Given the description of an element on the screen output the (x, y) to click on. 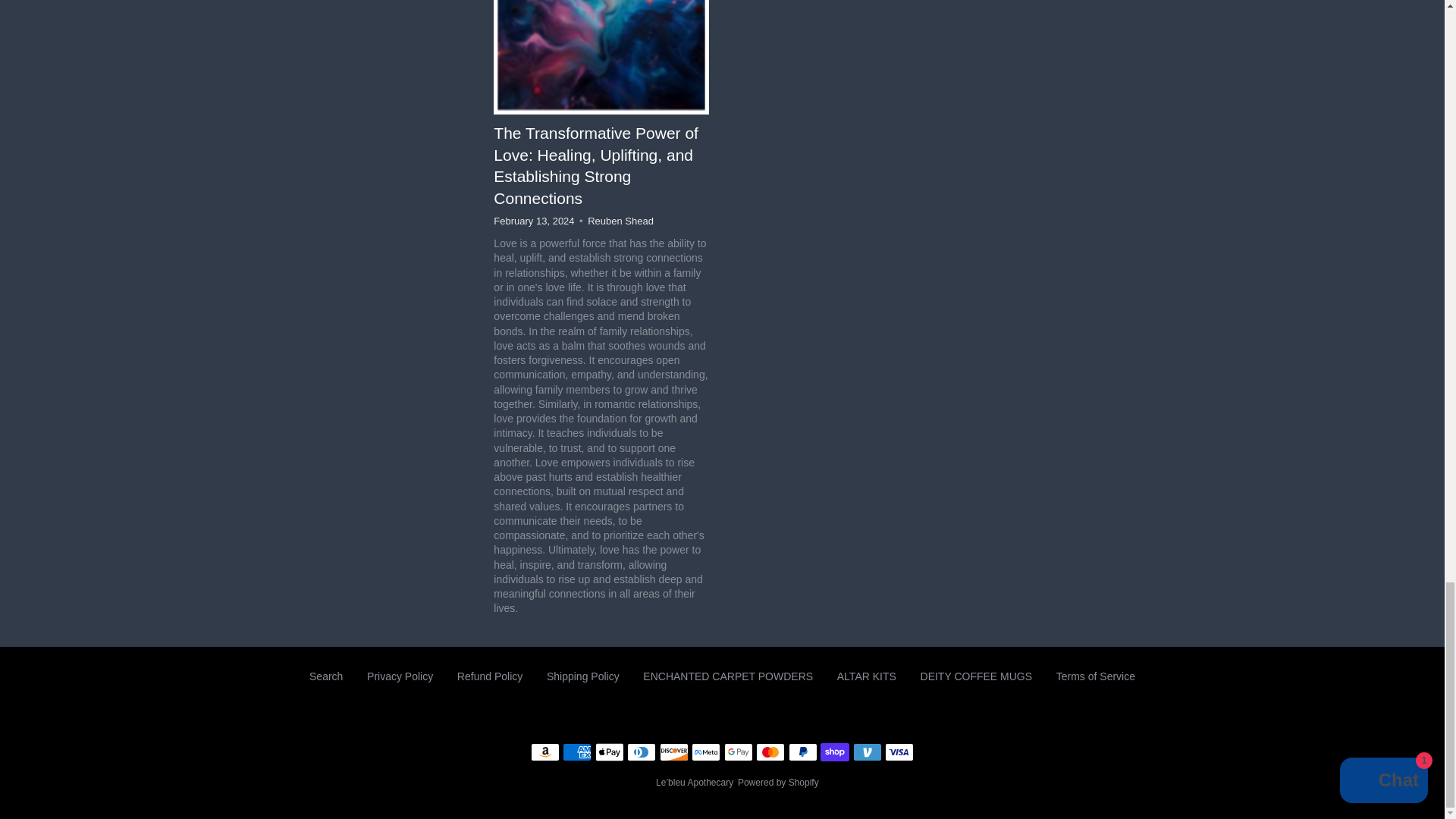
Amazon (545, 751)
American Express (576, 751)
PayPal (802, 751)
Google Pay (737, 751)
Shop Pay (834, 751)
Discover (673, 751)
Mastercard (769, 751)
Venmo (867, 751)
Apple Pay (609, 751)
Diners Club (641, 751)
Visa (899, 751)
Meta Pay (705, 751)
